Given the description of an element on the screen output the (x, y) to click on. 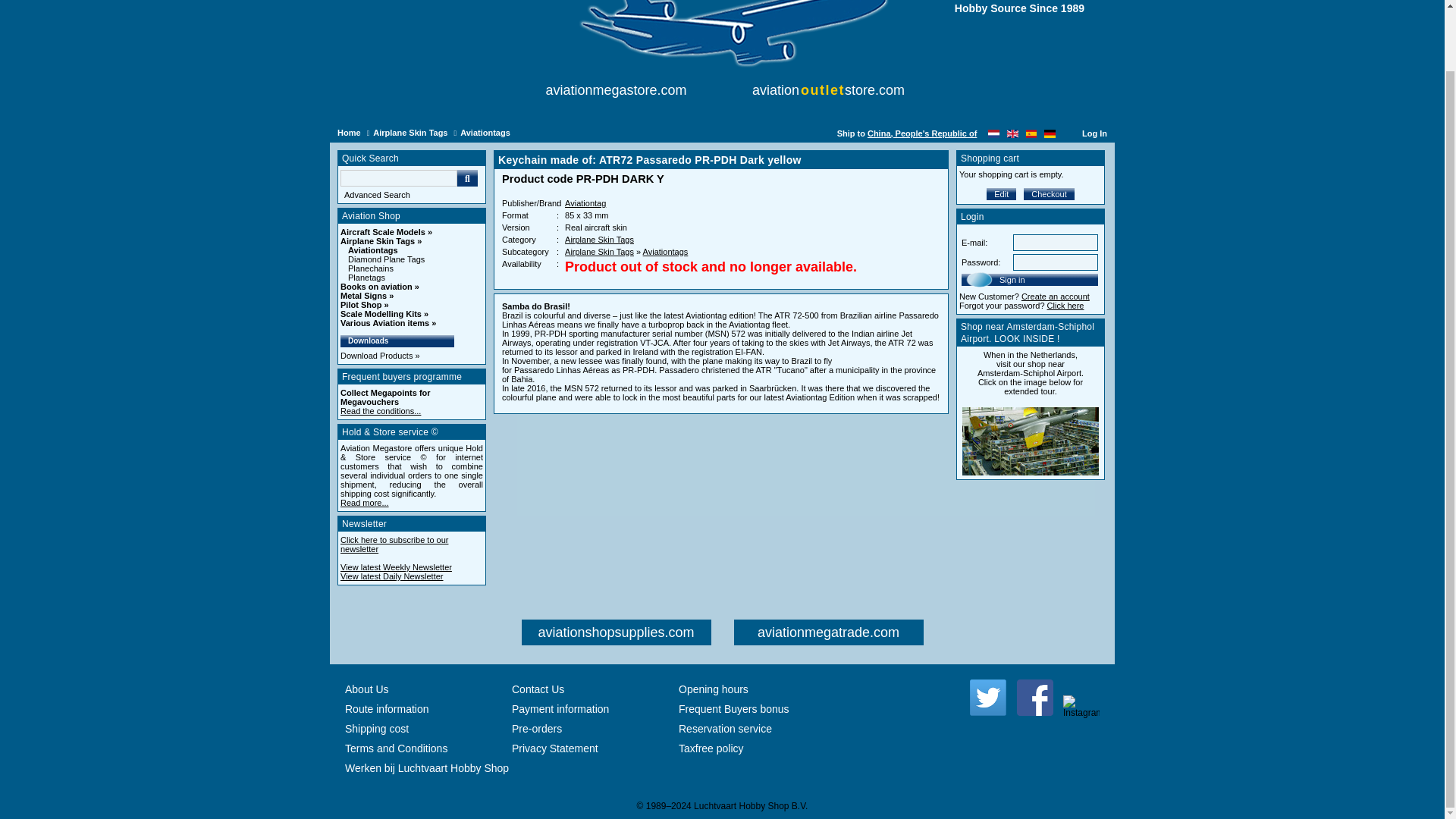
Create an account (1055, 296)
Airplane Skin Tags (598, 251)
Planechains (370, 267)
Download Products (380, 355)
Aviationtags (665, 251)
Edit (1001, 193)
Click here (1065, 305)
Airplane Skin Tags (598, 239)
Aircraft Scale Models (386, 231)
Various Aviation items (387, 322)
